Given the description of an element on the screen output the (x, y) to click on. 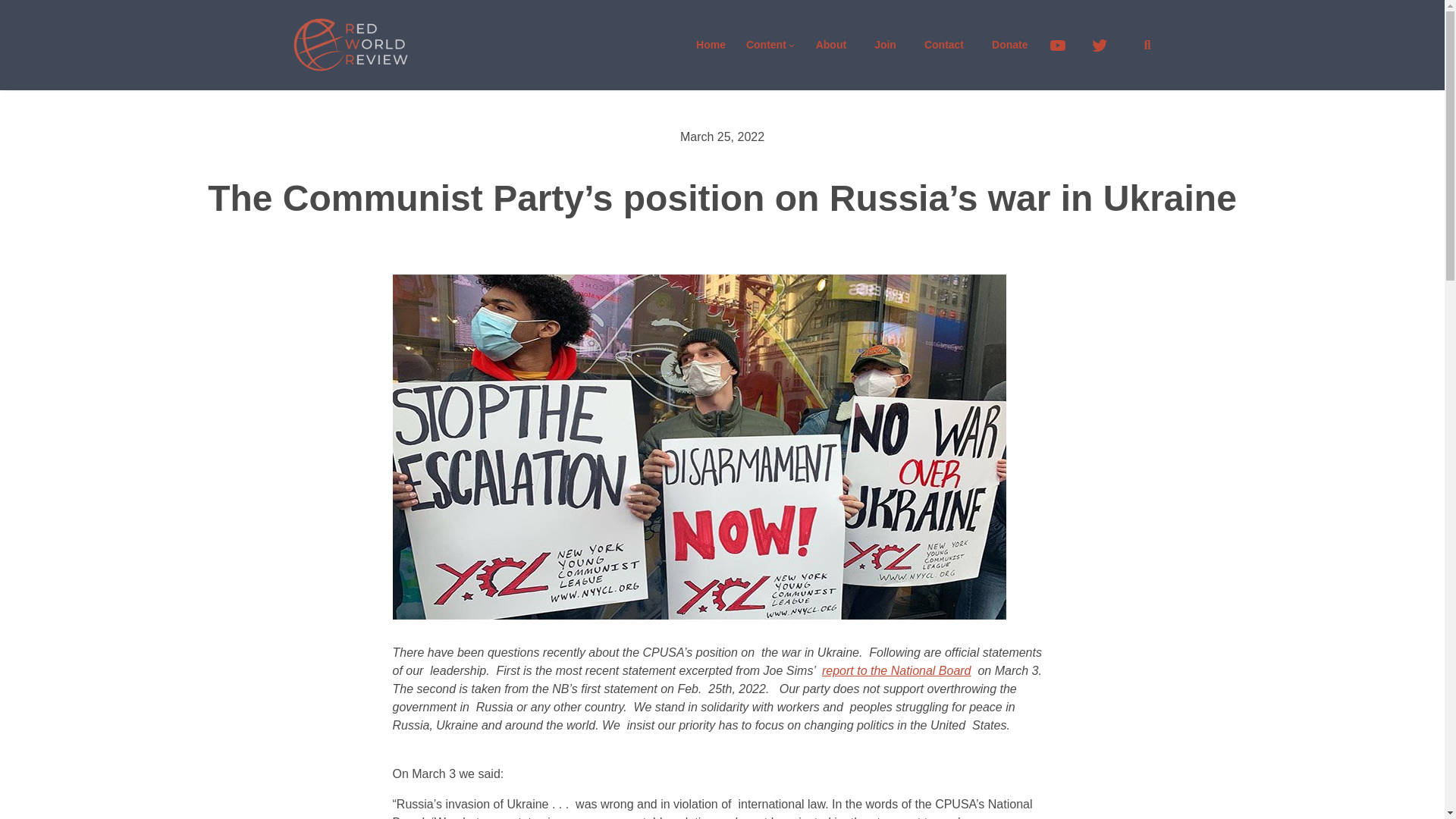
Contact (944, 44)
Donate (1009, 44)
YouTube (1064, 45)
Content (765, 44)
report to the National Board (896, 670)
Twitter (1106, 45)
Join (885, 44)
Contact (885, 44)
Content (765, 44)
Home (710, 44)
